Given the description of an element on the screen output the (x, y) to click on. 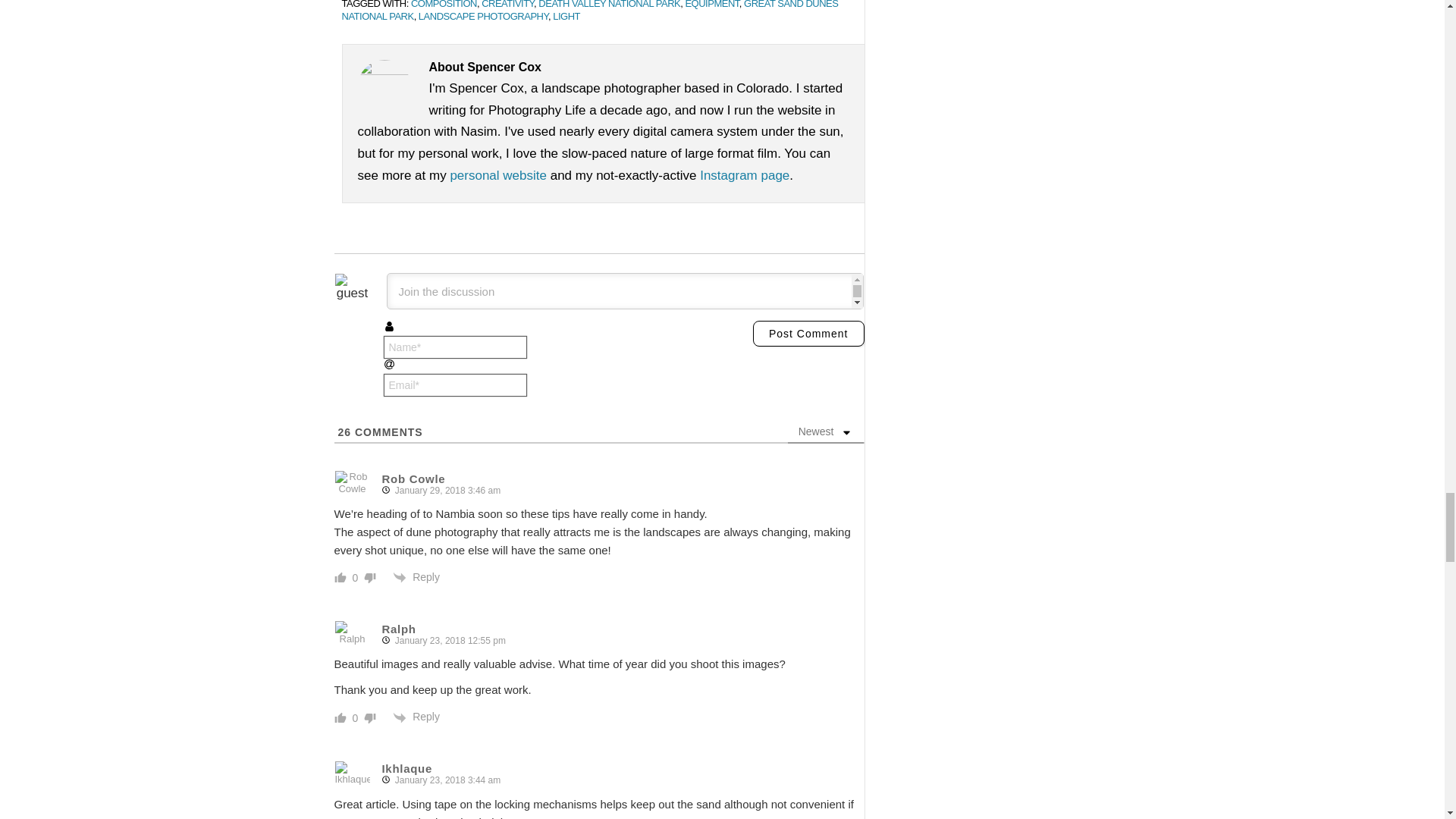
26 (344, 431)
0 (355, 577)
Post Comment (808, 333)
January 23, 2018 12:55 pm (447, 640)
January 29, 2018 3:46 am (444, 490)
